Given the description of an element on the screen output the (x, y) to click on. 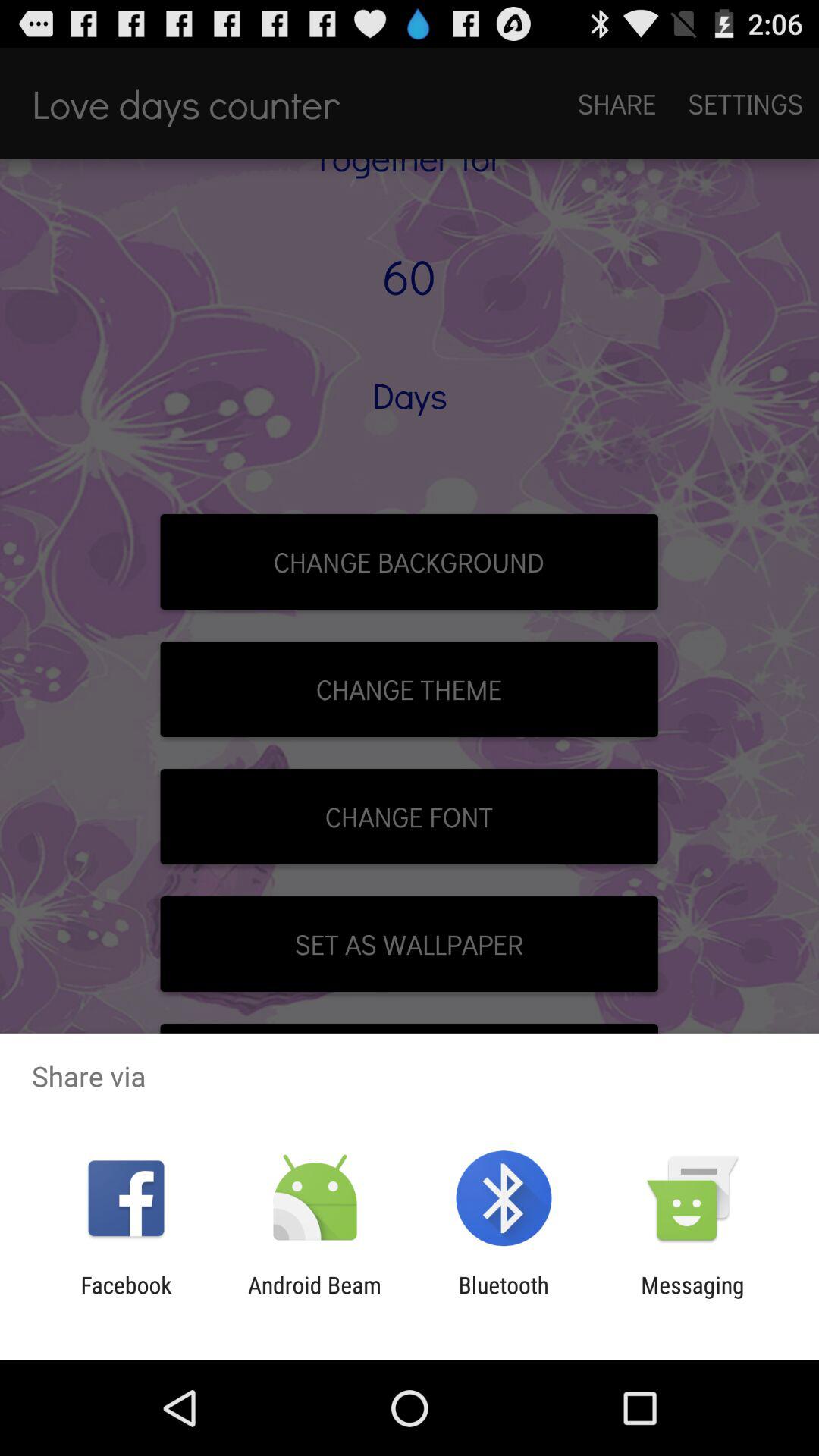
turn on the icon to the left of the messaging icon (503, 1298)
